Given the description of an element on the screen output the (x, y) to click on. 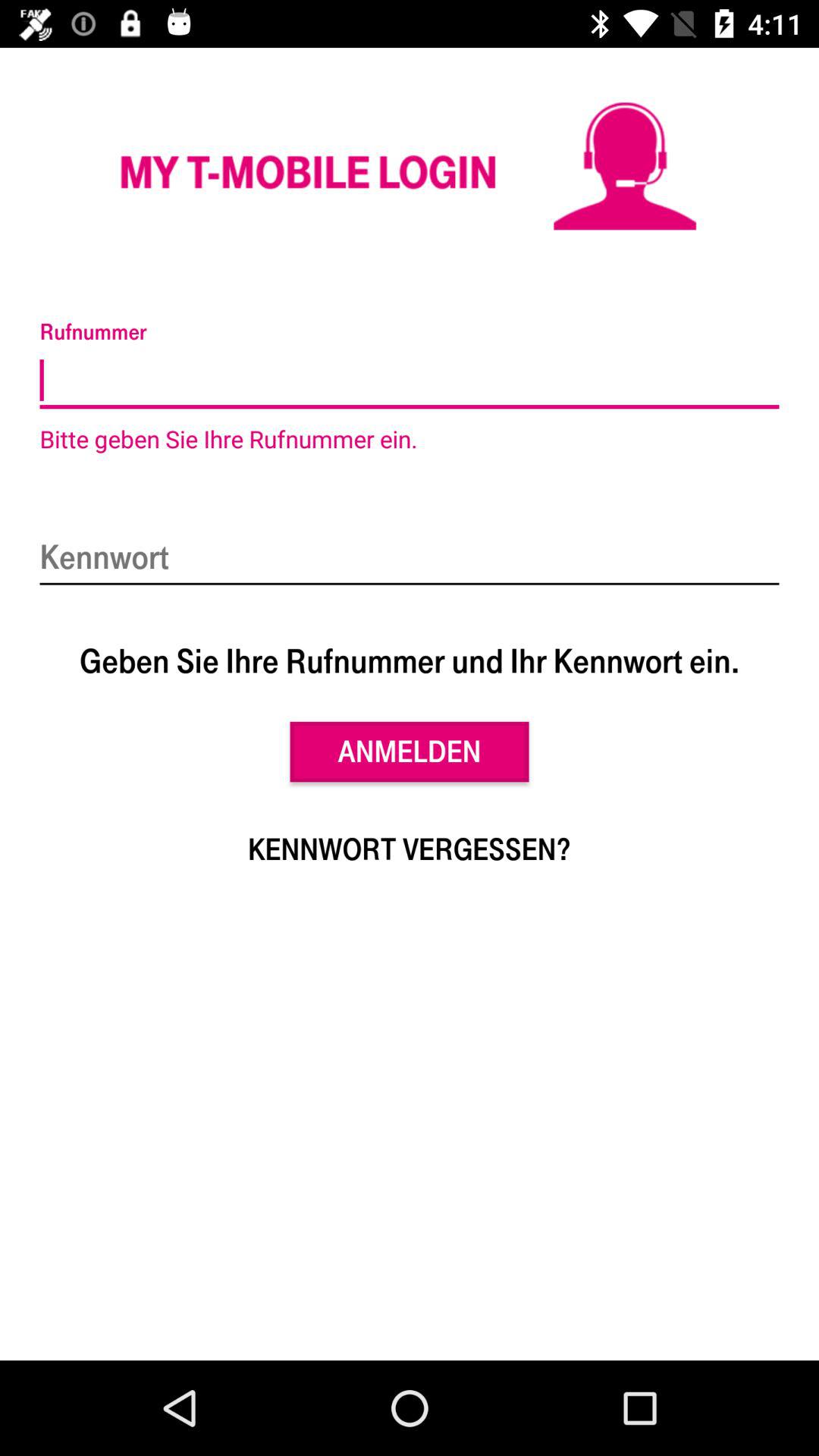
click anmelden (409, 751)
